Given the description of an element on the screen output the (x, y) to click on. 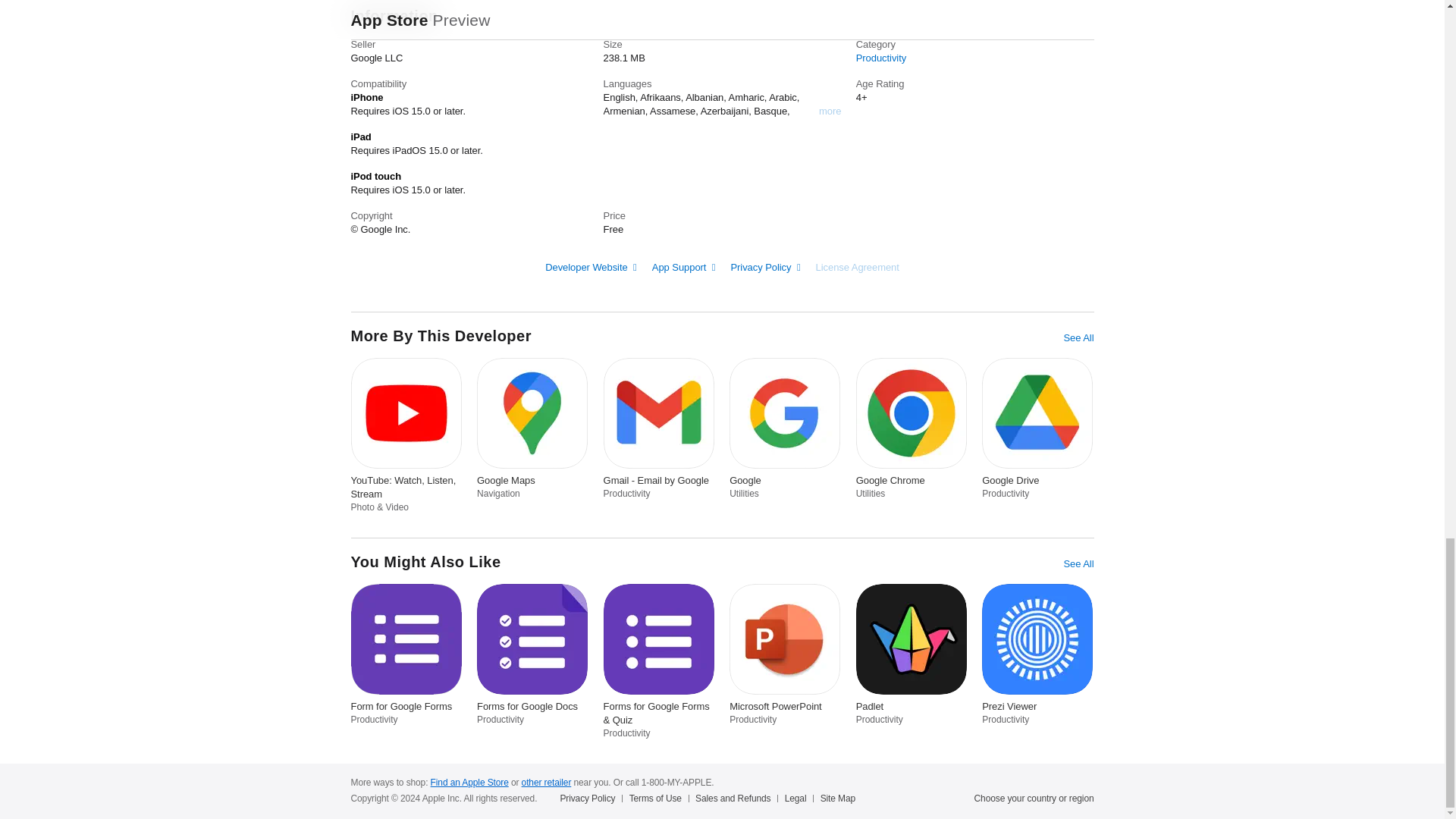
Choose your country or region (1034, 798)
